Given the description of an element on the screen output the (x, y) to click on. 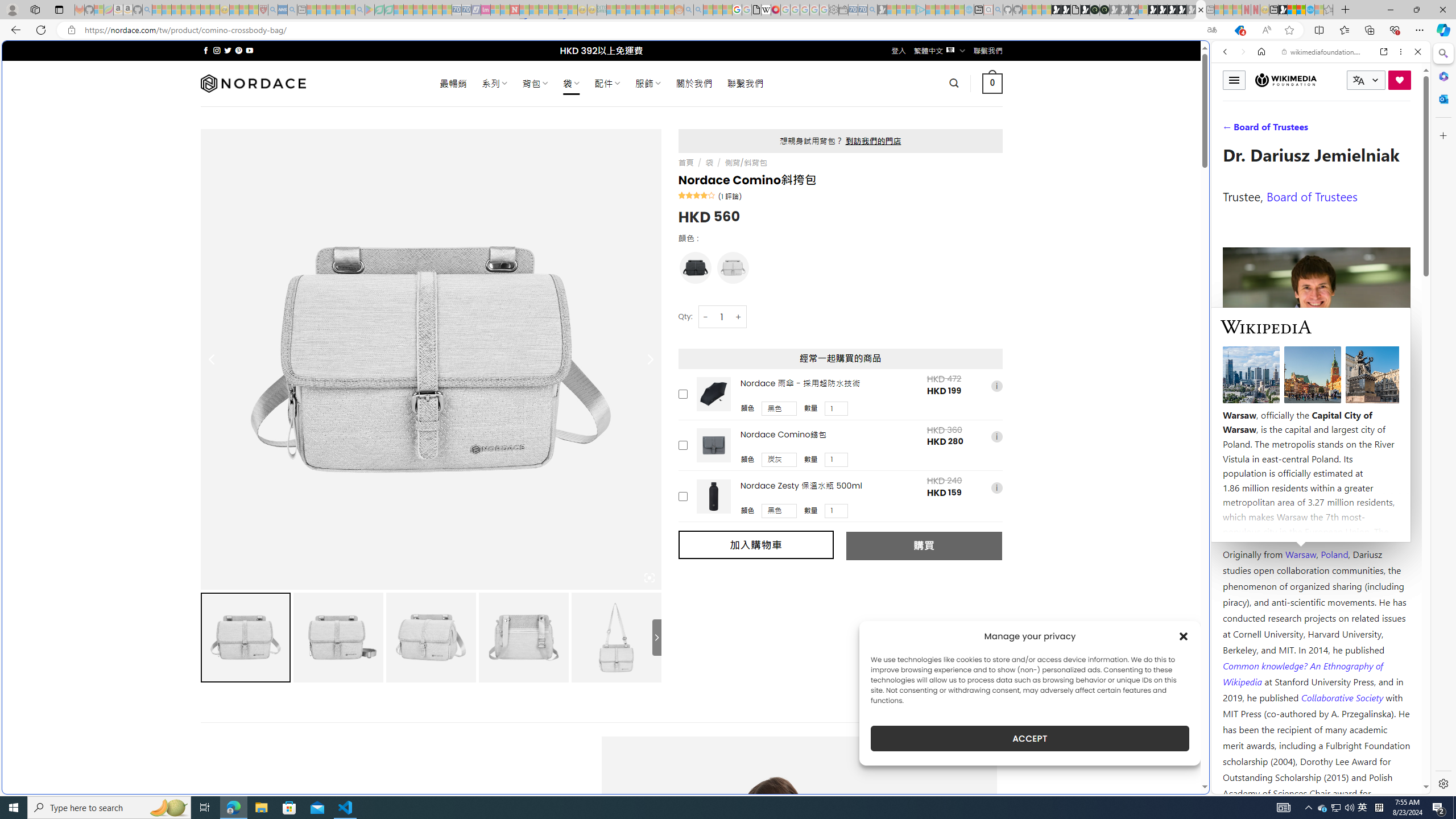
Toggle menu (1233, 80)
Earth has six continents not seven, radical new study claims (1300, 9)
Settings - Sleeping (833, 9)
Class: upsell-v2-product-upsell-variable-product-qty-select (836, 510)
